Given the description of an element on the screen output the (x, y) to click on. 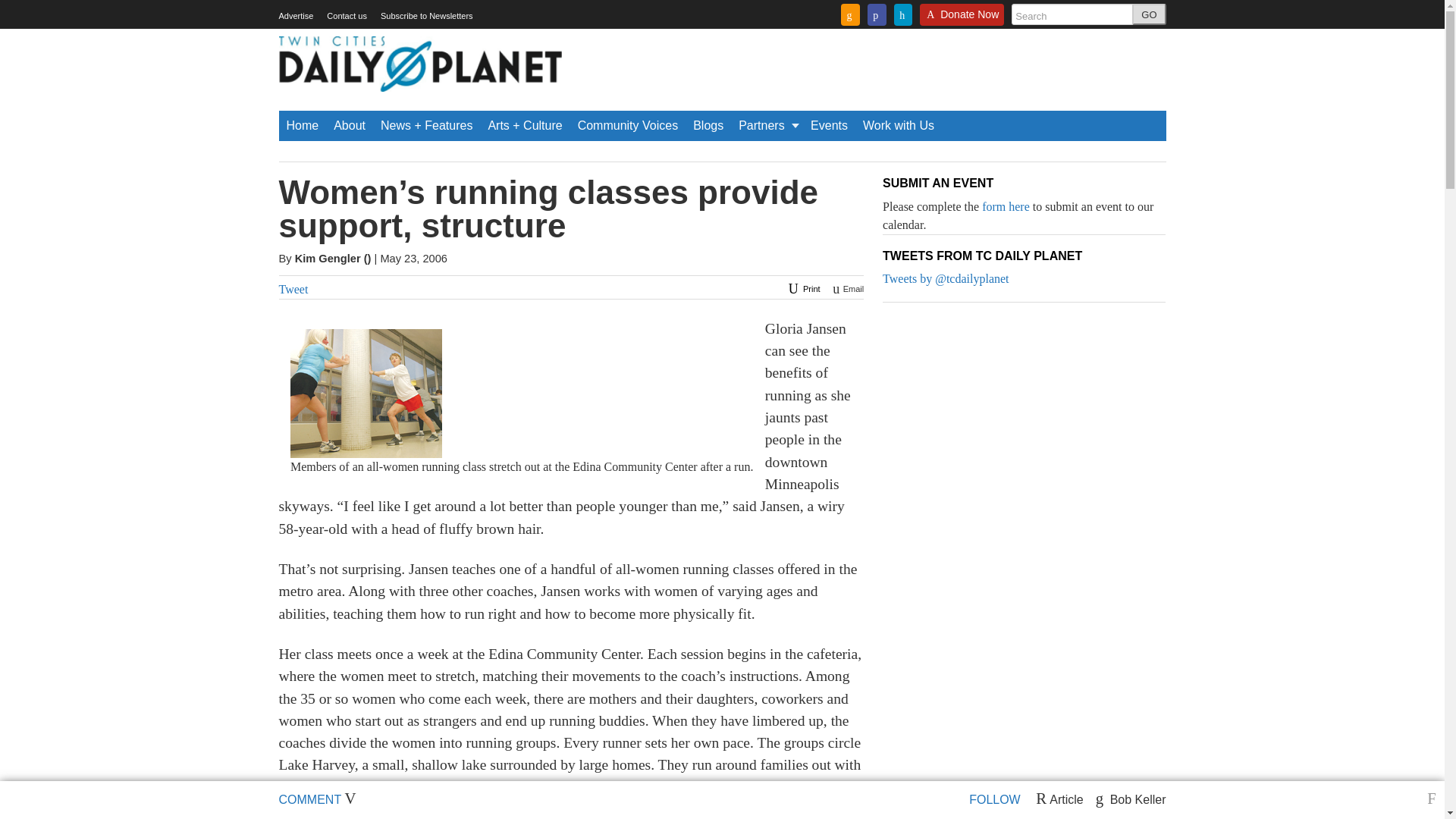
About (349, 125)
GO (1149, 14)
Blogs (707, 125)
Community Voices (627, 125)
Print (801, 288)
Work with Us (899, 125)
Subscribe to Newsletters (426, 15)
Contact us (346, 15)
Advertise (296, 15)
Events (829, 125)
form here (1005, 205)
Home (302, 125)
Print this article (801, 288)
Tweet (293, 288)
Donate Now (962, 19)
